Given the description of an element on the screen output the (x, y) to click on. 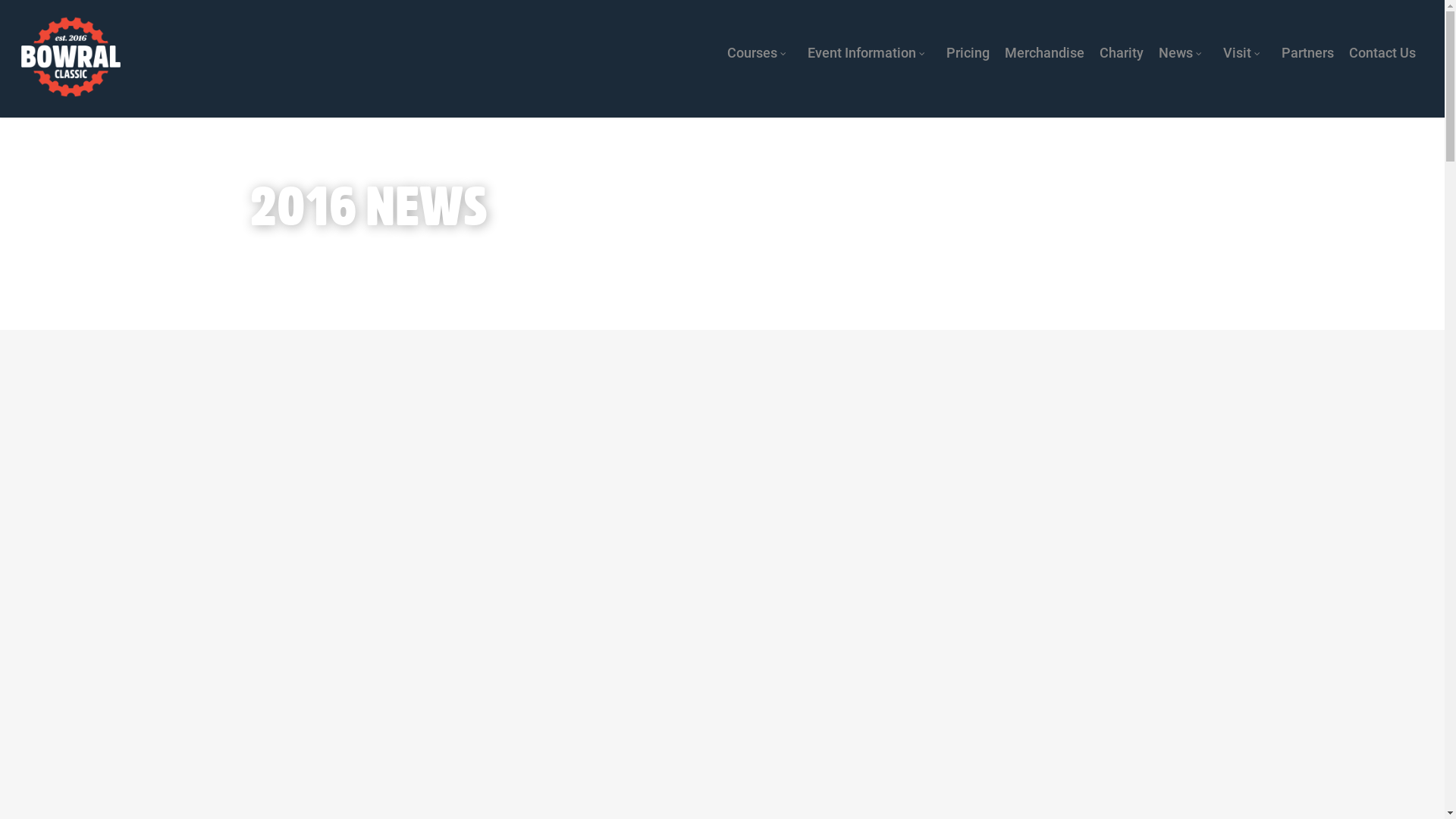
Event Information Element type: text (869, 52)
Contact Us Element type: text (1382, 52)
Courses Element type: text (759, 52)
Merchandise Element type: text (1044, 52)
Pricing Element type: text (967, 52)
Visit Element type: text (1244, 52)
News Element type: text (1183, 52)
Charity Element type: text (1121, 52)
Partners Element type: text (1307, 52)
